Given the description of an element on the screen output the (x, y) to click on. 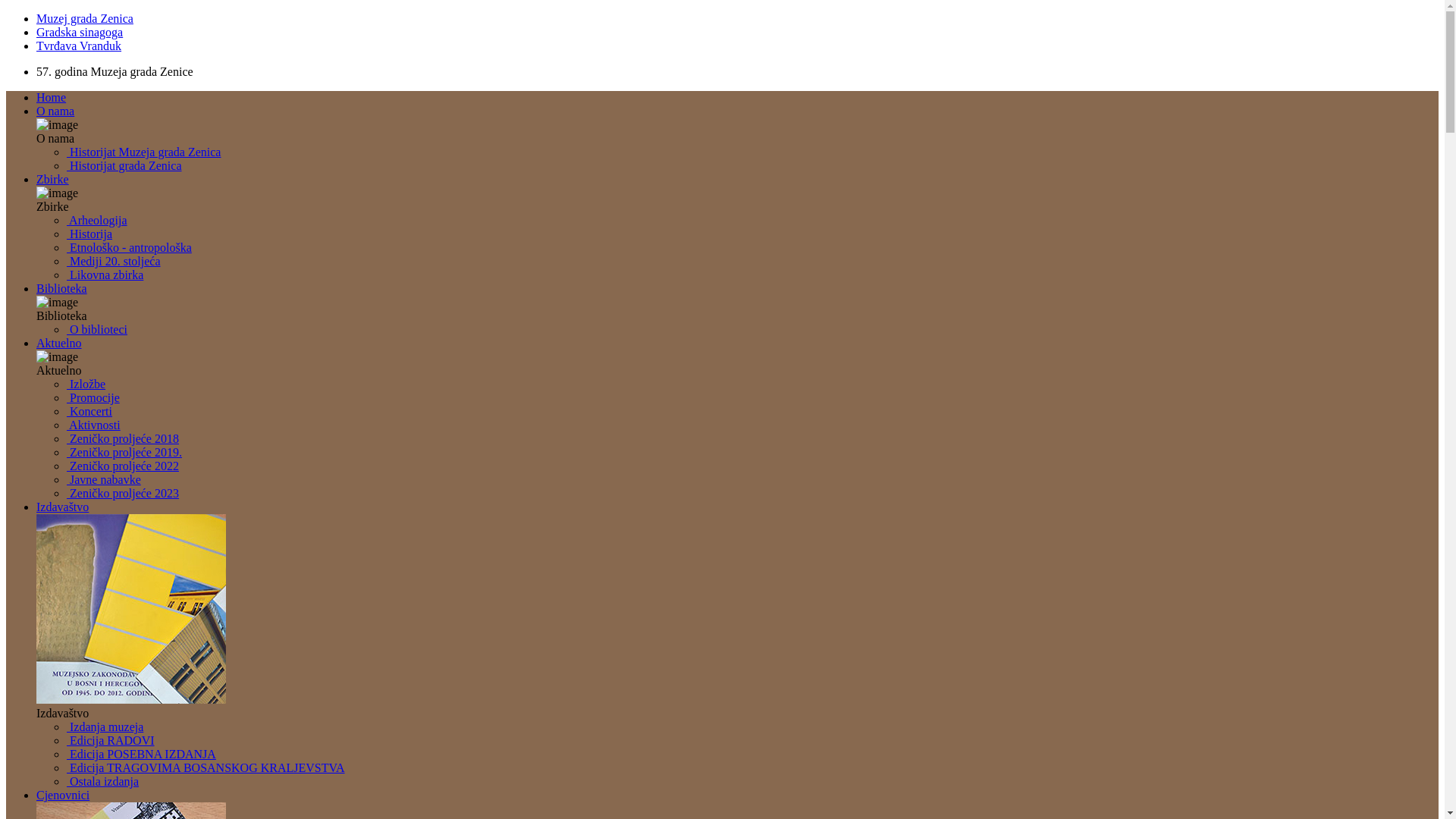
O nama Element type: text (55, 110)
 Edicija POSEBNA IZDANJA Element type: text (141, 753)
Cjenovnici Element type: text (62, 794)
 Izdanja muzeja Element type: text (104, 726)
 Likovna zbirka Element type: text (104, 274)
Gradska sinagoga Element type: text (79, 31)
Biblioteka Element type: text (61, 288)
 Arheologija Element type: text (96, 219)
 Edicija TRAGOVIMA BOSANSKOG KRALJEVSTVA Element type: text (205, 767)
Aktuelno Element type: text (58, 342)
 Ostala izdanja Element type: text (102, 781)
 Historija Element type: text (89, 233)
 Javne nabavke Element type: text (103, 479)
 Koncerti Element type: text (89, 410)
Home Element type: text (50, 97)
 Edicija RADOVI Element type: text (110, 740)
 Aktivnosti Element type: text (93, 424)
 Promocije Element type: text (92, 397)
 O biblioteci Element type: text (96, 329)
 Historijat grada Zenica Element type: text (124, 165)
 Historijat Muzeja grada Zenica Element type: text (143, 151)
Muzej grada Zenica Element type: text (84, 18)
Zbirke Element type: text (52, 178)
